Given the description of an element on the screen output the (x, y) to click on. 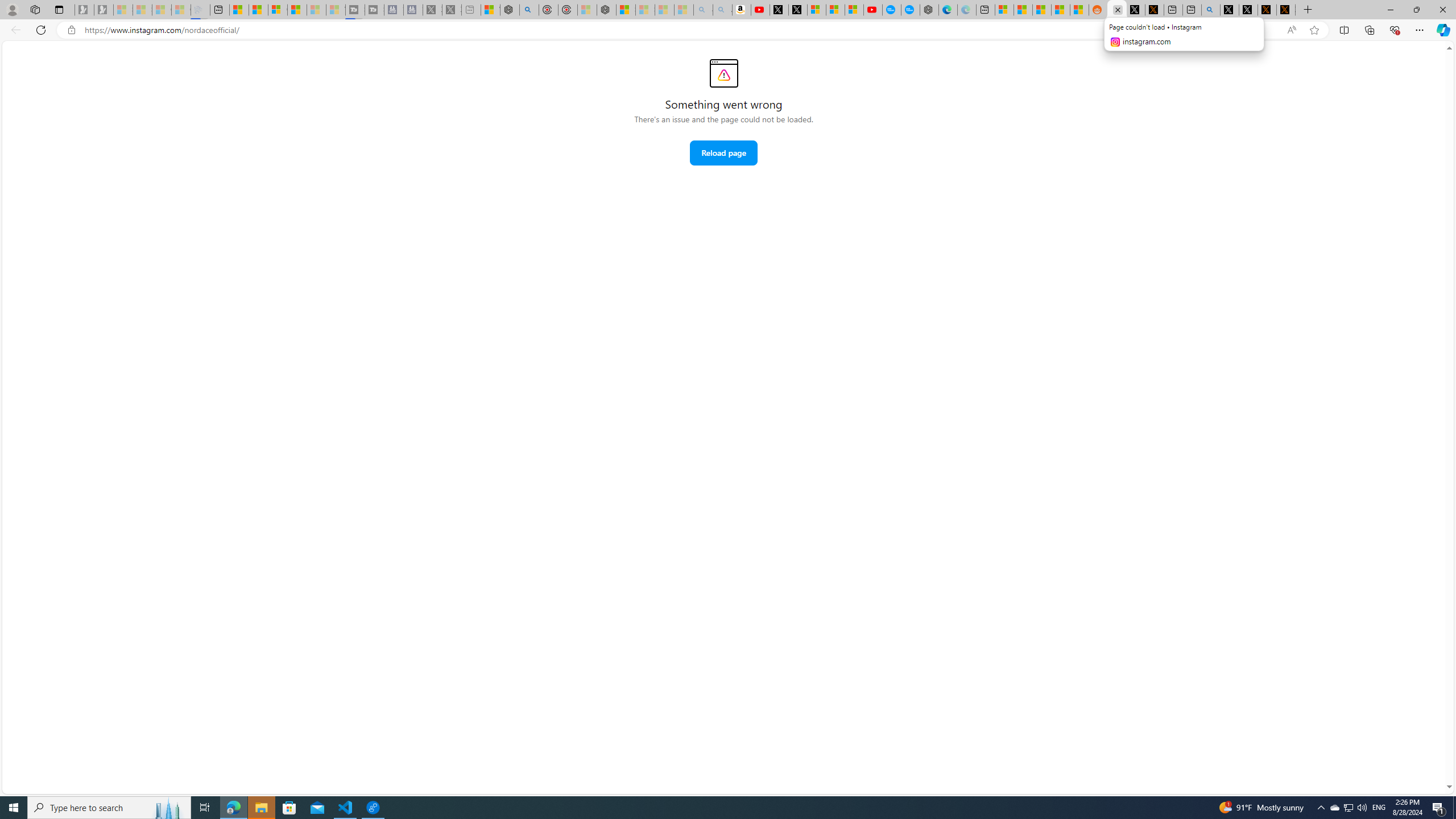
Log in to X / X (1135, 9)
Nordace - Nordace has arrived Hong Kong (929, 9)
X Privacy Policy (1285, 9)
help.x.com | 524: A timeout occurred (1154, 9)
Newsletter Sign Up - Sleeping (102, 9)
github - Search (1210, 9)
